Given the description of an element on the screen output the (x, y) to click on. 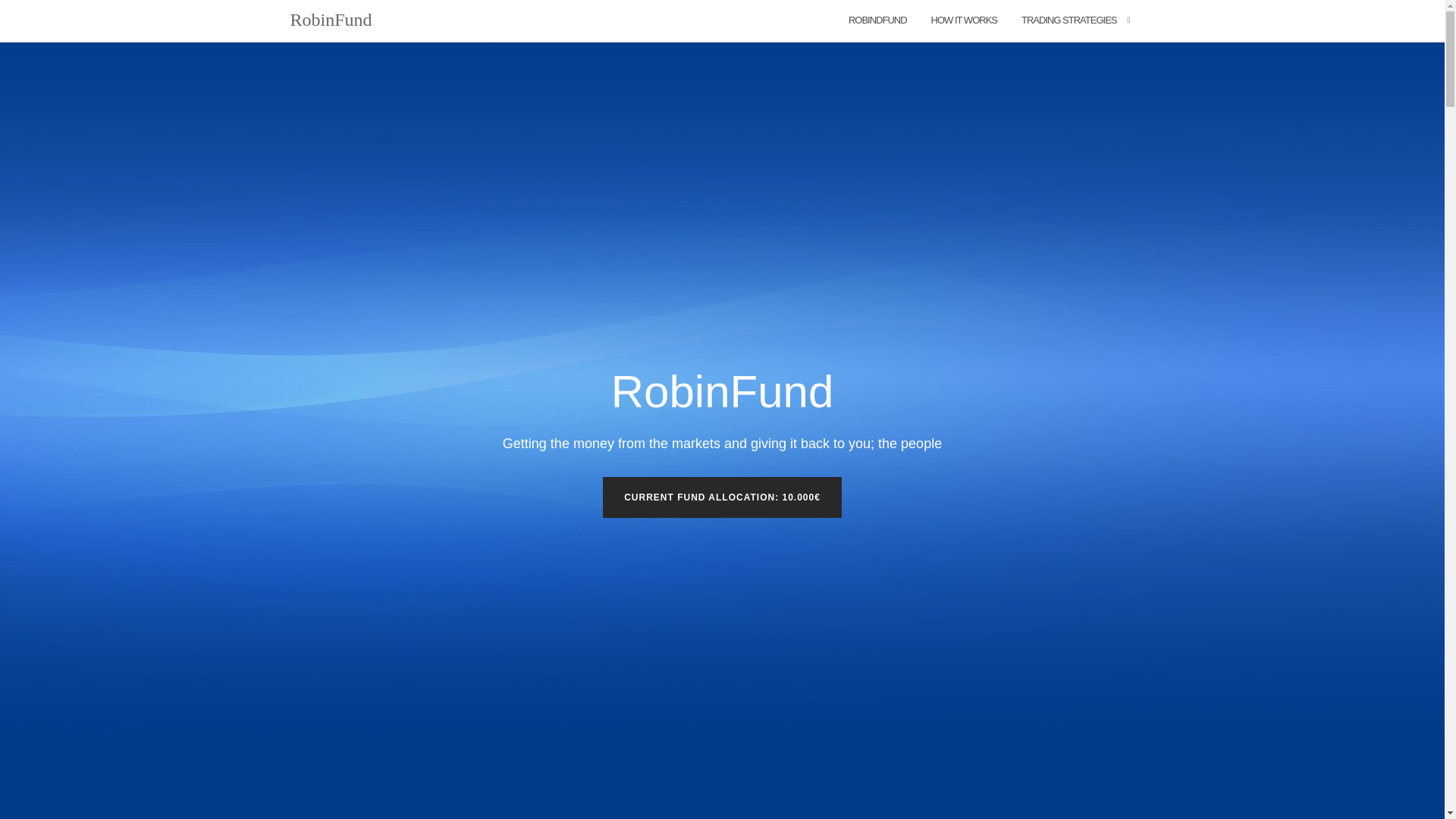
RobinFund (330, 20)
TRADING STRATEGIES (1069, 20)
How it Works (964, 20)
ROBINDFUND (877, 20)
RobindFund (877, 20)
Trading Strategies (1069, 20)
HOW IT WORKS (964, 20)
